Given the description of an element on the screen output the (x, y) to click on. 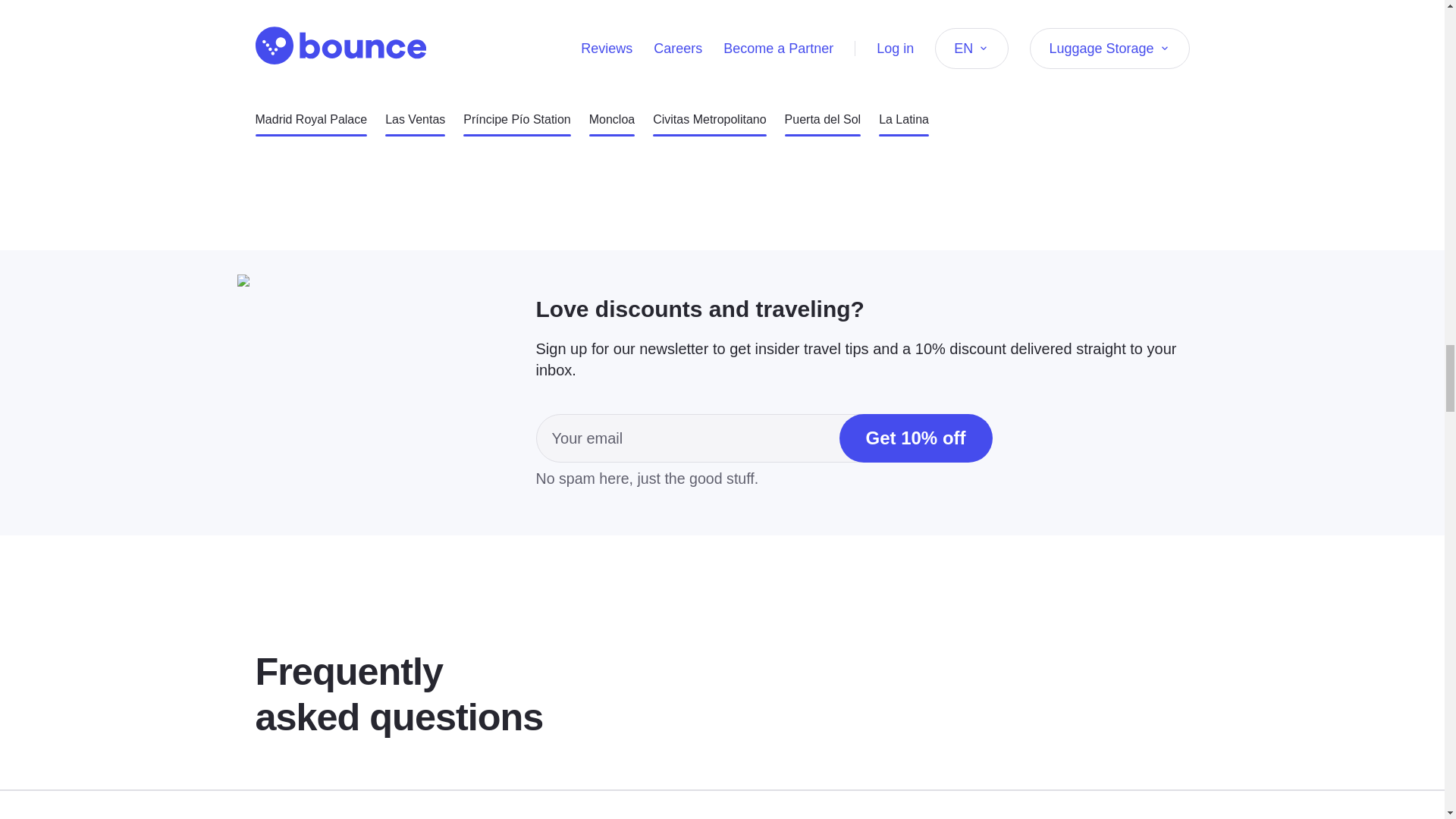
Atocha (921, 73)
Nuevos Ministerios (305, 73)
Prado Museum (844, 73)
Madrid Airport (590, 73)
